Given the description of an element on the screen output the (x, y) to click on. 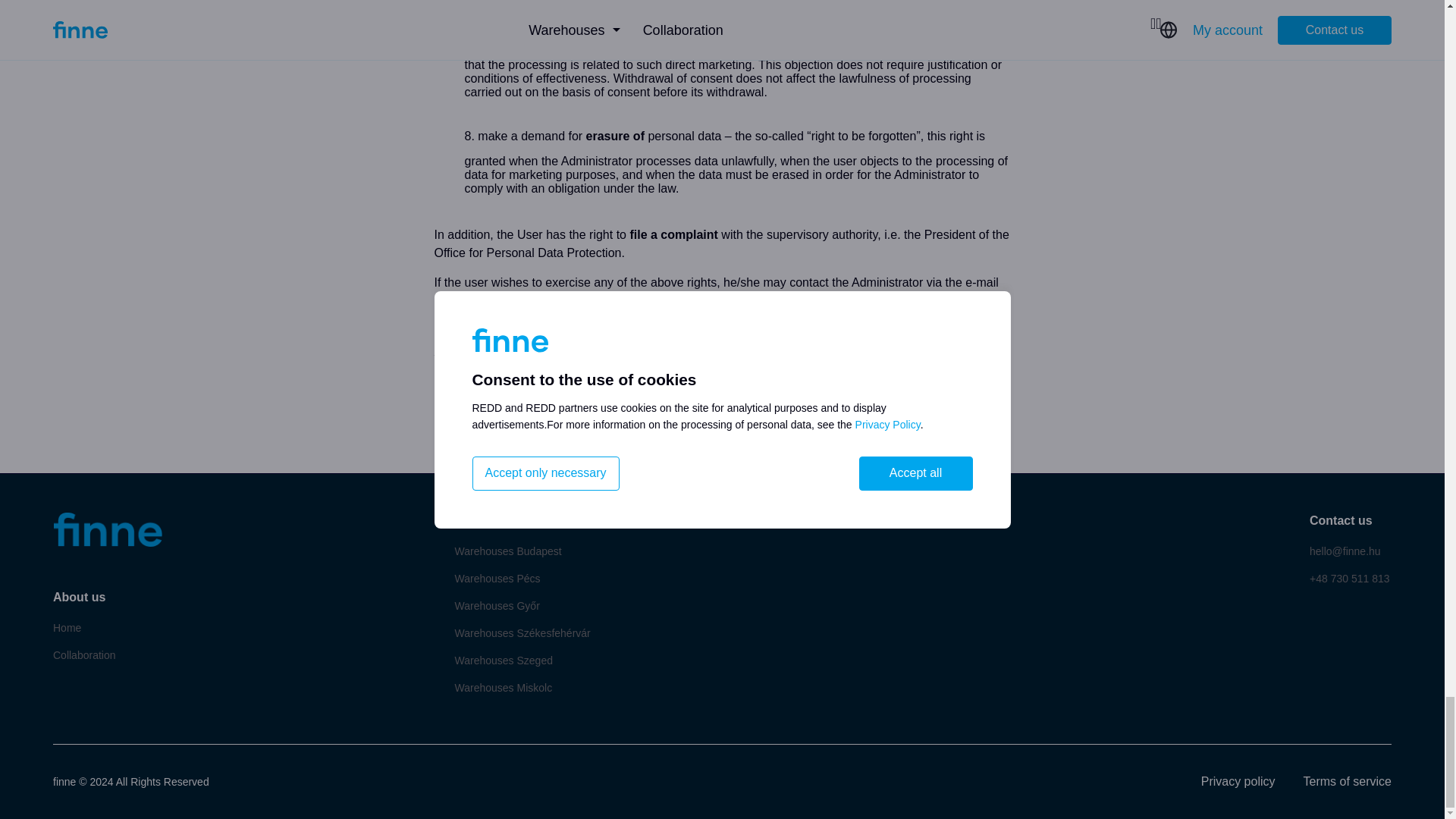
Collaboration (84, 655)
Warehouses Szeged (503, 660)
Home (66, 628)
Warehouses Budapest (508, 551)
